Given the description of an element on the screen output the (x, y) to click on. 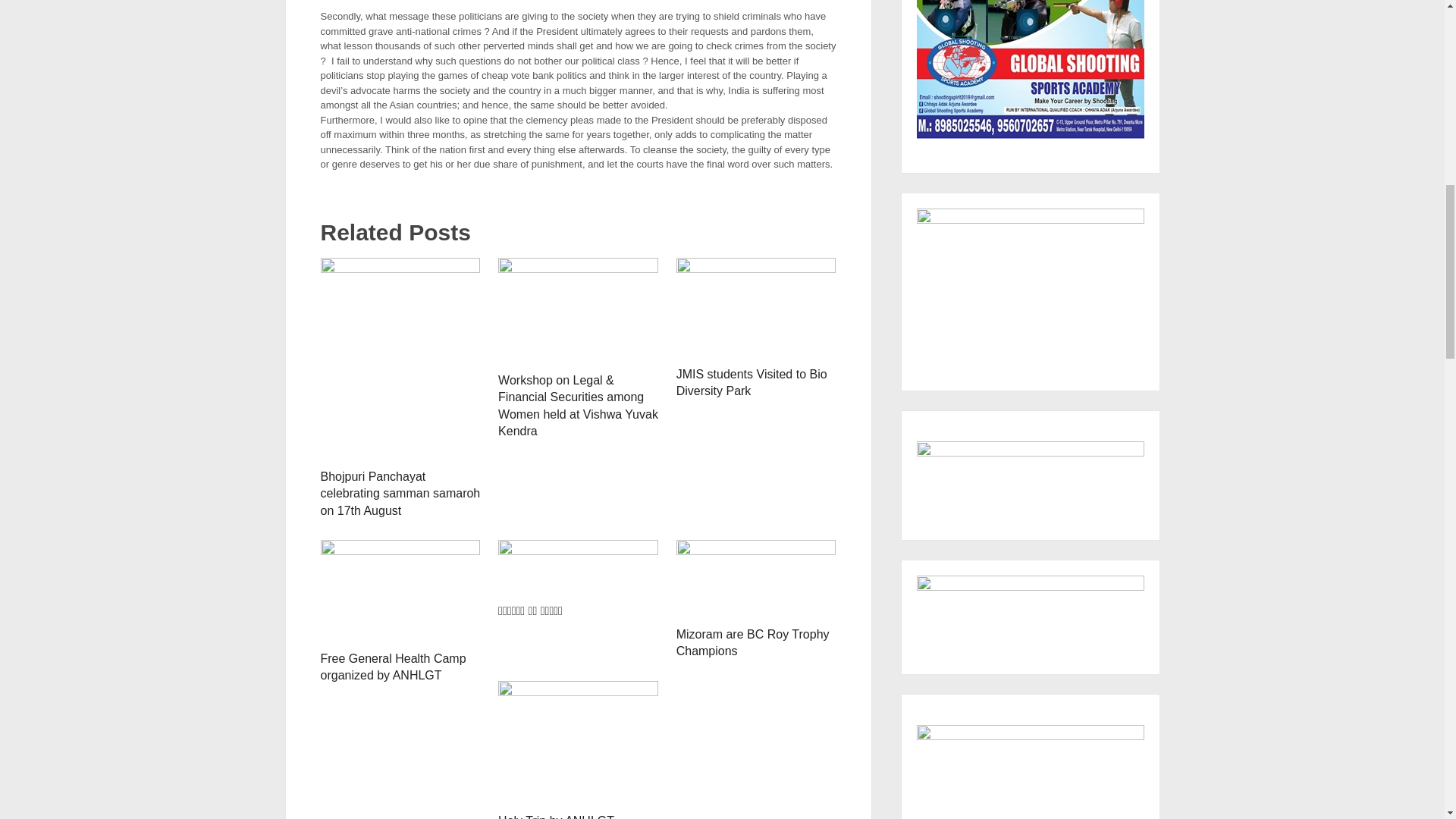
JMIS students Visited to Bio Diversity Park (752, 382)
Bhojpuri Panchayat celebrating samman samaroh on 17th August (400, 493)
Bhojpuri Panchayat celebrating samman samaroh on 17th August (400, 493)
JMIS students Visited to Bio Diversity Park (756, 307)
Free General Health Camp organized by ANHLGT (400, 590)
